Given the description of an element on the screen output the (x, y) to click on. 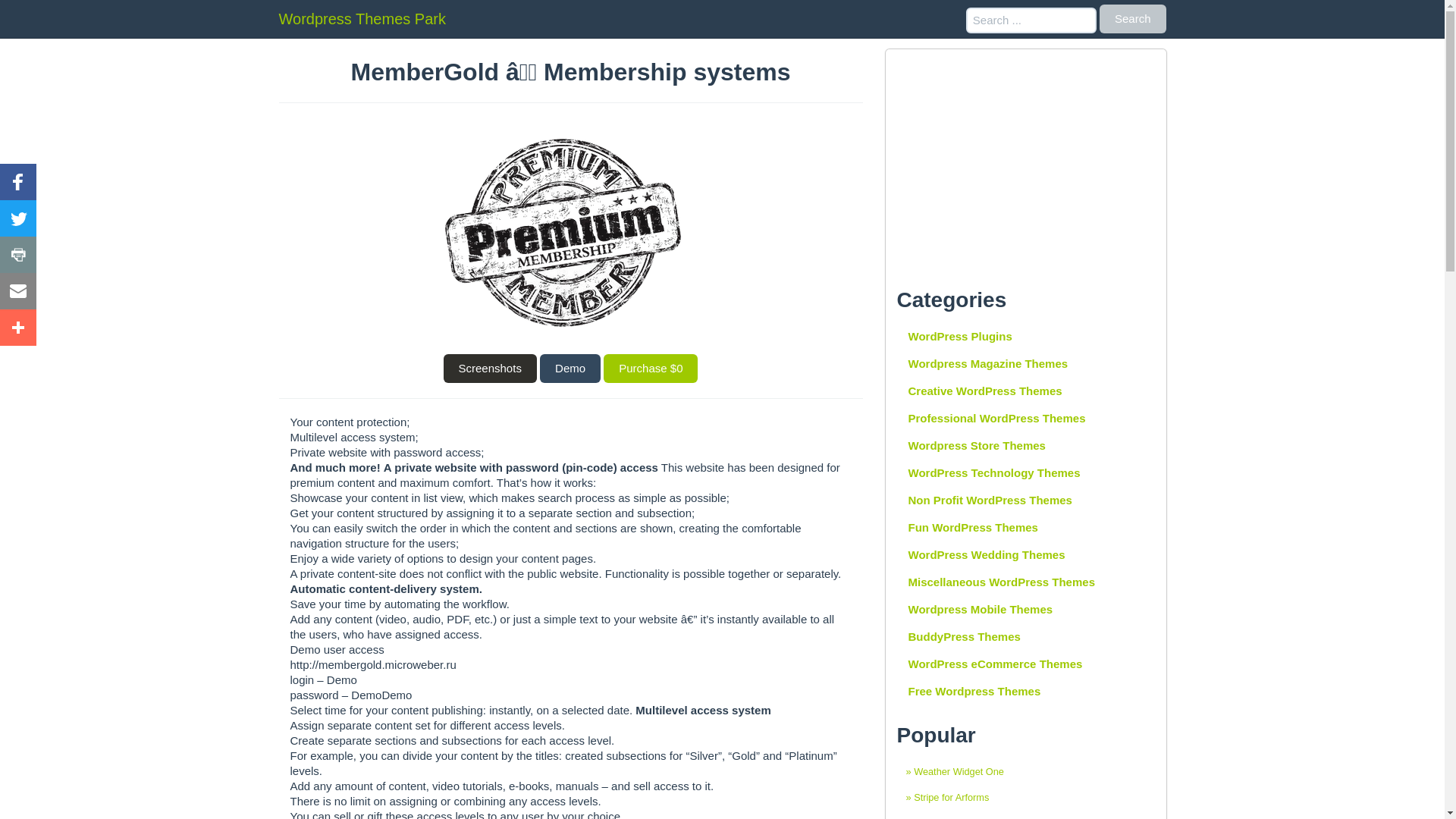
Screenshots (488, 368)
Non Profit WordPress Themes (1025, 500)
WordPress eCommerce Themes (1025, 664)
Creative WordPress Themes (1025, 390)
Search (1132, 18)
Demo (569, 368)
WordPress Wedding Themes (1025, 554)
Share to Email (18, 290)
BuddyPress Themes (1025, 636)
Share to Print (18, 254)
Share to Facebook (18, 181)
WordPress Technology Themes (1025, 472)
Free Wordpress Themes (1025, 691)
Wordpress Themes Park (362, 18)
WordPress Plugins (1025, 336)
